Given the description of an element on the screen output the (x, y) to click on. 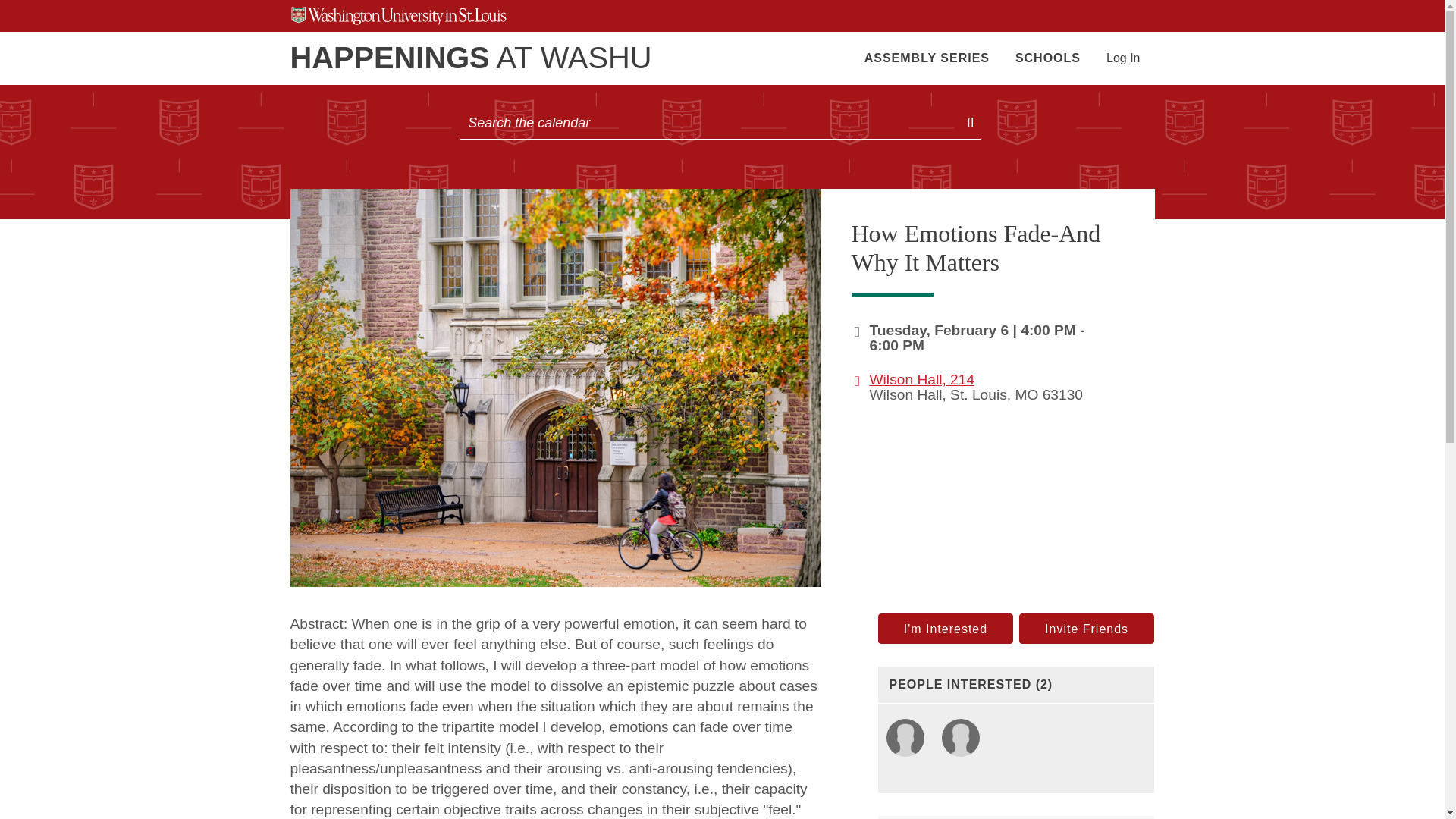
Log In (1122, 58)
Invite Friends (1086, 628)
2024-02-06T16:00:00-06:00 (974, 330)
HAPPENINGS AT WASHU (469, 57)
ASSEMBLY SERIES (927, 57)
2024-02-06T18:00:00-06:00 (896, 344)
Search (972, 122)
Wilson Hall, 214 (921, 379)
Juman Al Bukhari (960, 739)
SCHOOLS (1047, 57)
Yifei Wang (905, 739)
I'm Interested (945, 628)
